Given the description of an element on the screen output the (x, y) to click on. 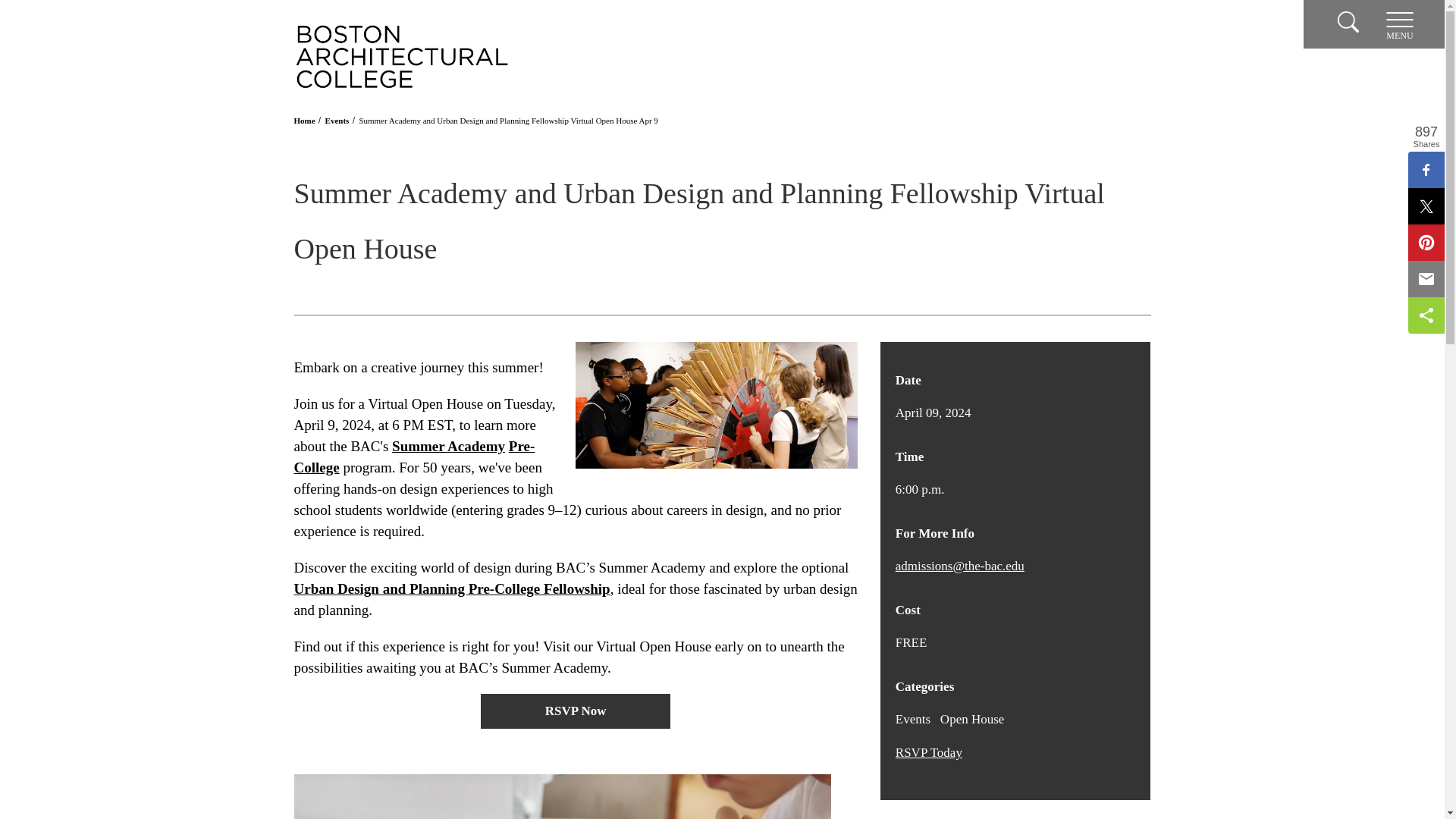
Header Logo (401, 55)
Search (1347, 21)
MENU (1399, 23)
